Given the description of an element on the screen output the (x, y) to click on. 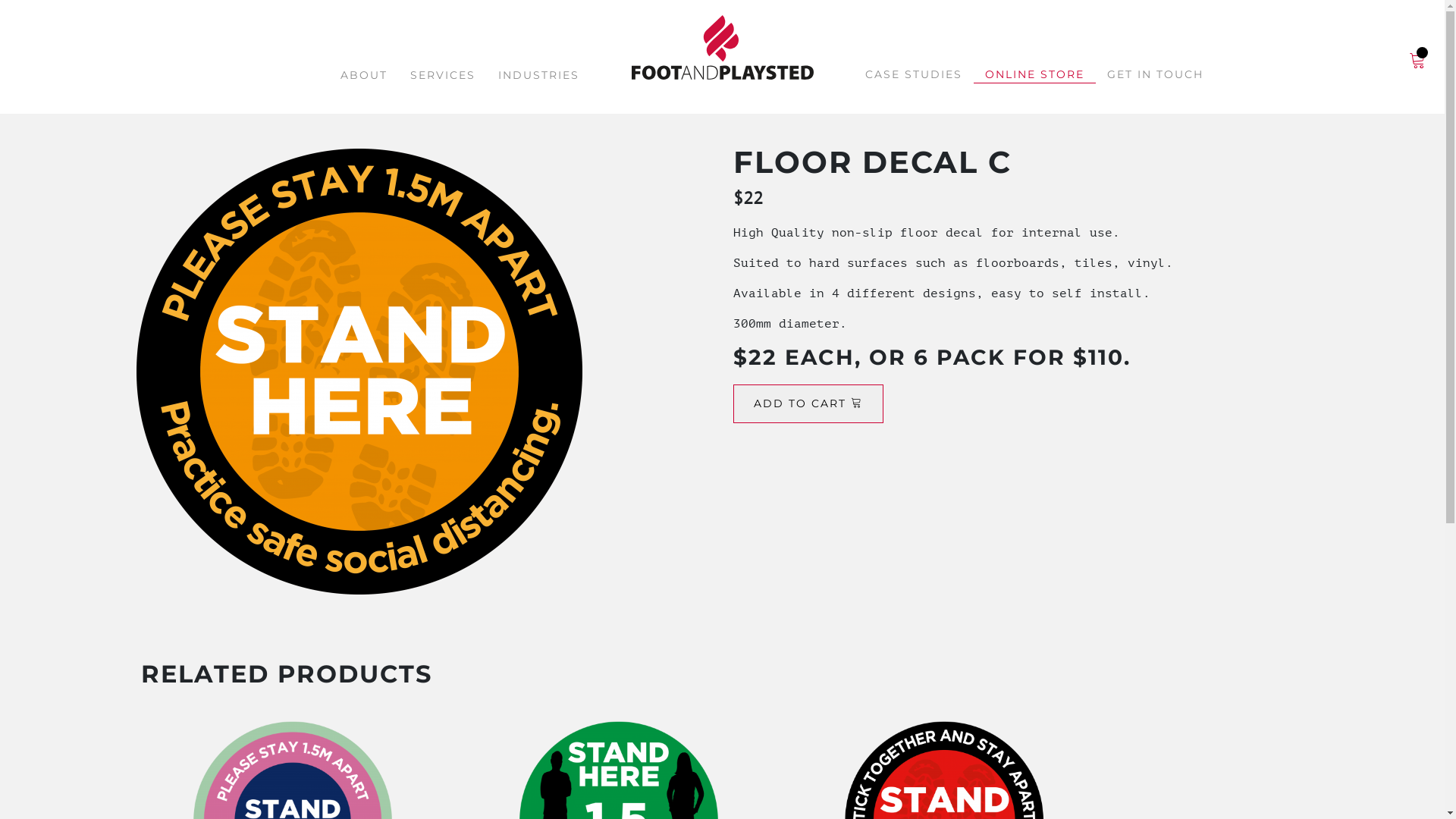
Foot and Playsted Element type: hover (721, 47)
GET IN TOUCH Element type: text (1154, 74)
SERVICES Element type: text (442, 75)
ONLINE STORE Element type: text (1034, 74)
CASE STUDIES Element type: text (913, 74)
ABOUT Element type: text (363, 75)
INDUSTRIES Element type: text (538, 75)
ADD TO CART Element type: text (808, 403)
